Given the description of an element on the screen output the (x, y) to click on. 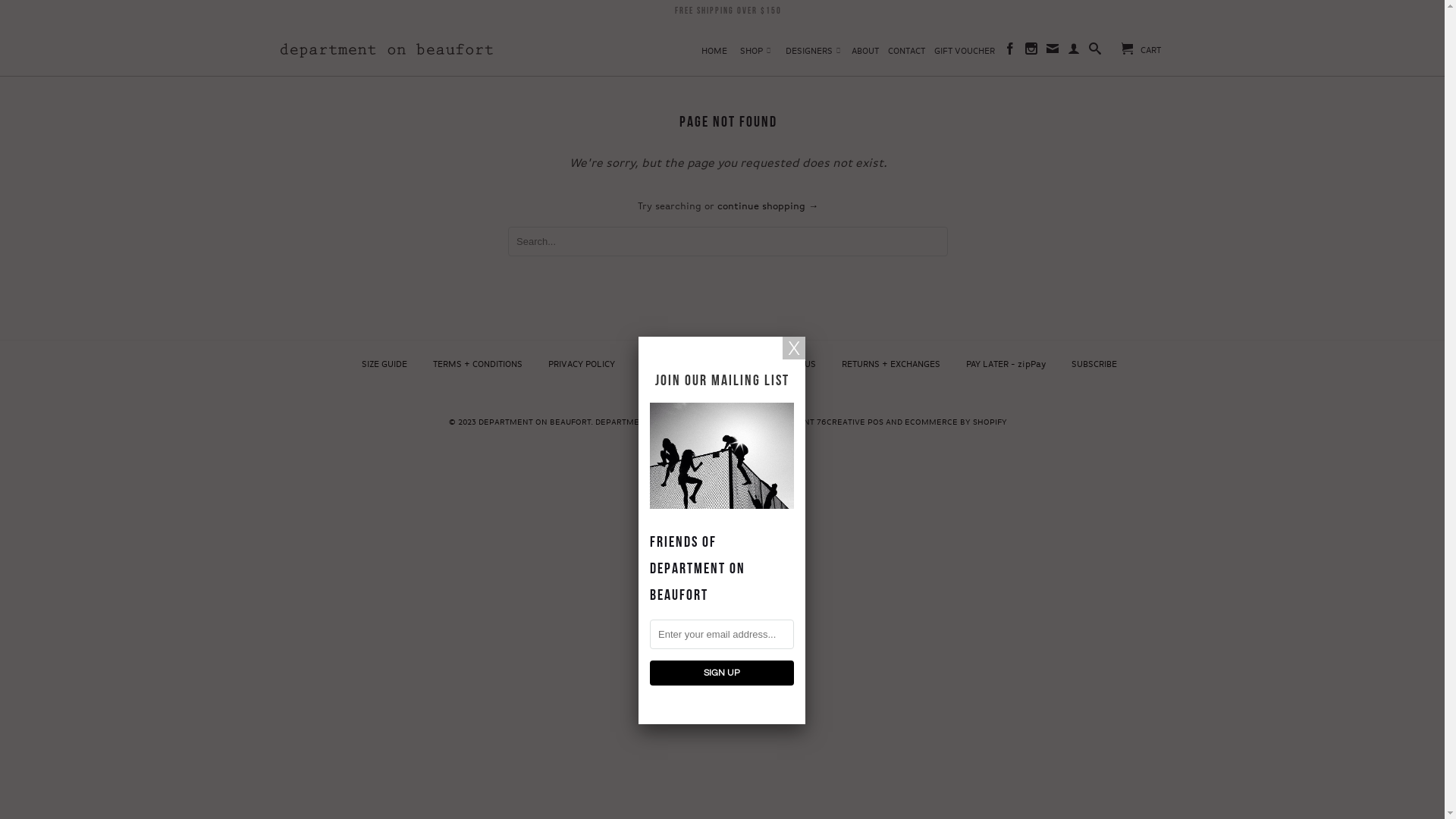
My Account  Element type: hover (1073, 51)
SHIPPING INFORMATION Element type: text (689, 364)
SUBSCRIBE Element type: text (1094, 364)
ABOUT Element type: text (864, 54)
DEPARTMENT ON BEAUFORT Element type: text (534, 421)
DEPARTMENT ON BEAUFORT Element type: hover (386, 44)
HOME Element type: text (714, 54)
Sign Up Element type: text (721, 672)
RETURNS + EXCHANGES Element type: text (890, 364)
ECOMMERCE BY SHOPIFY Element type: text (955, 421)
CART Element type: text (1141, 49)
GIFT VOUCHER Element type: text (964, 54)
CONTACT Element type: text (906, 54)
CONTACT US Element type: text (790, 364)
DEPARTMENT ON BEAUFORT on Instagram Element type: hover (1031, 51)
PRIVACY POLICY Element type: text (581, 364)
POS Element type: text (875, 421)
SIZE GUIDE Element type: text (384, 364)
Email DEPARTMENT ON BEAUFORT Element type: hover (1052, 51)
Search Element type: hover (1094, 51)
DEPARTMENT ON BEAUFORT on Facebook Element type: hover (1010, 51)
TERMS + CONDITIONS Element type: text (477, 364)
PAY LATER - zipPay Element type: text (1005, 364)
Close Element type: hover (793, 347)
DESIGN + DEVELOPMENT 76CREATIVE Element type: text (790, 421)
